Given the description of an element on the screen output the (x, y) to click on. 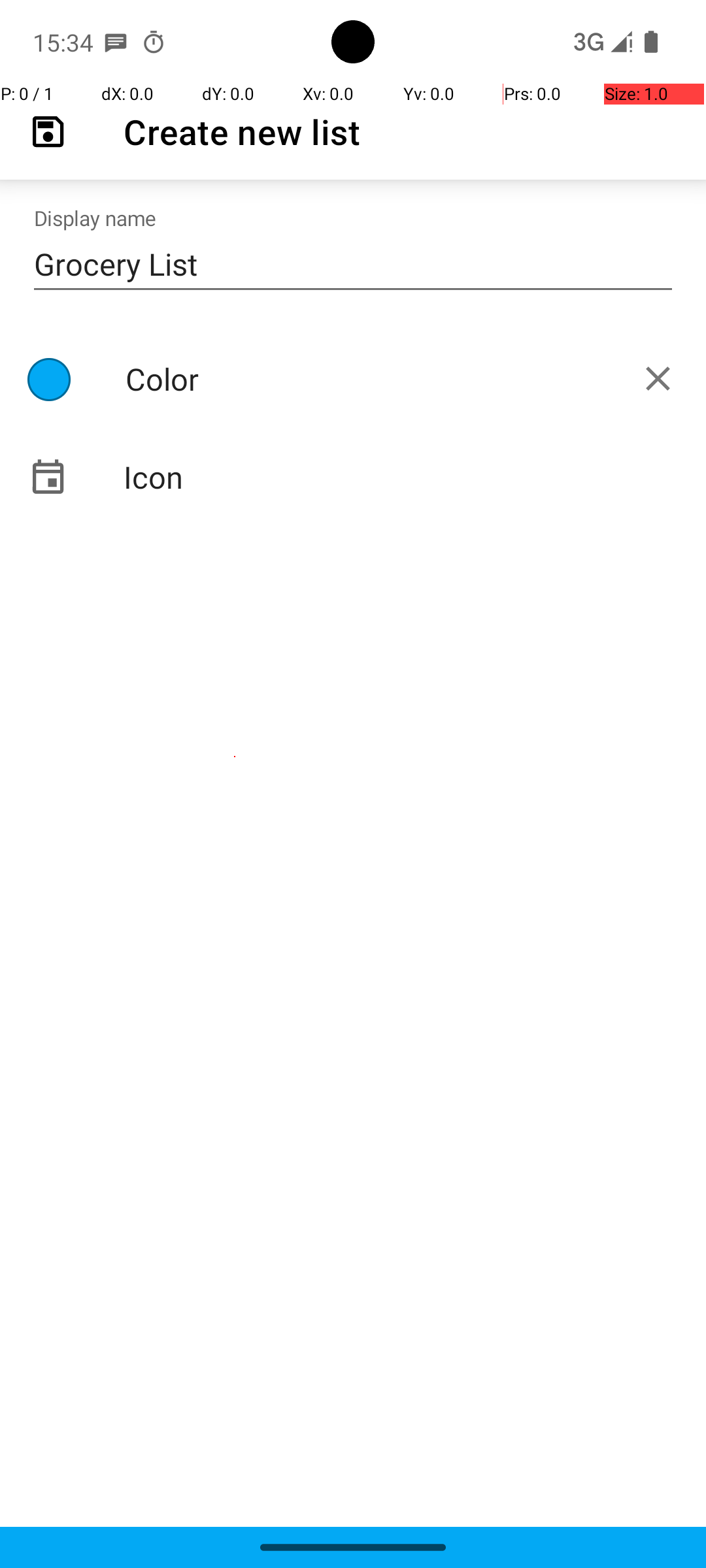
Create new list Element type: android.widget.TextView (241, 131)
Icon Element type: android.widget.TextView (352, 476)
